Given the description of an element on the screen output the (x, y) to click on. 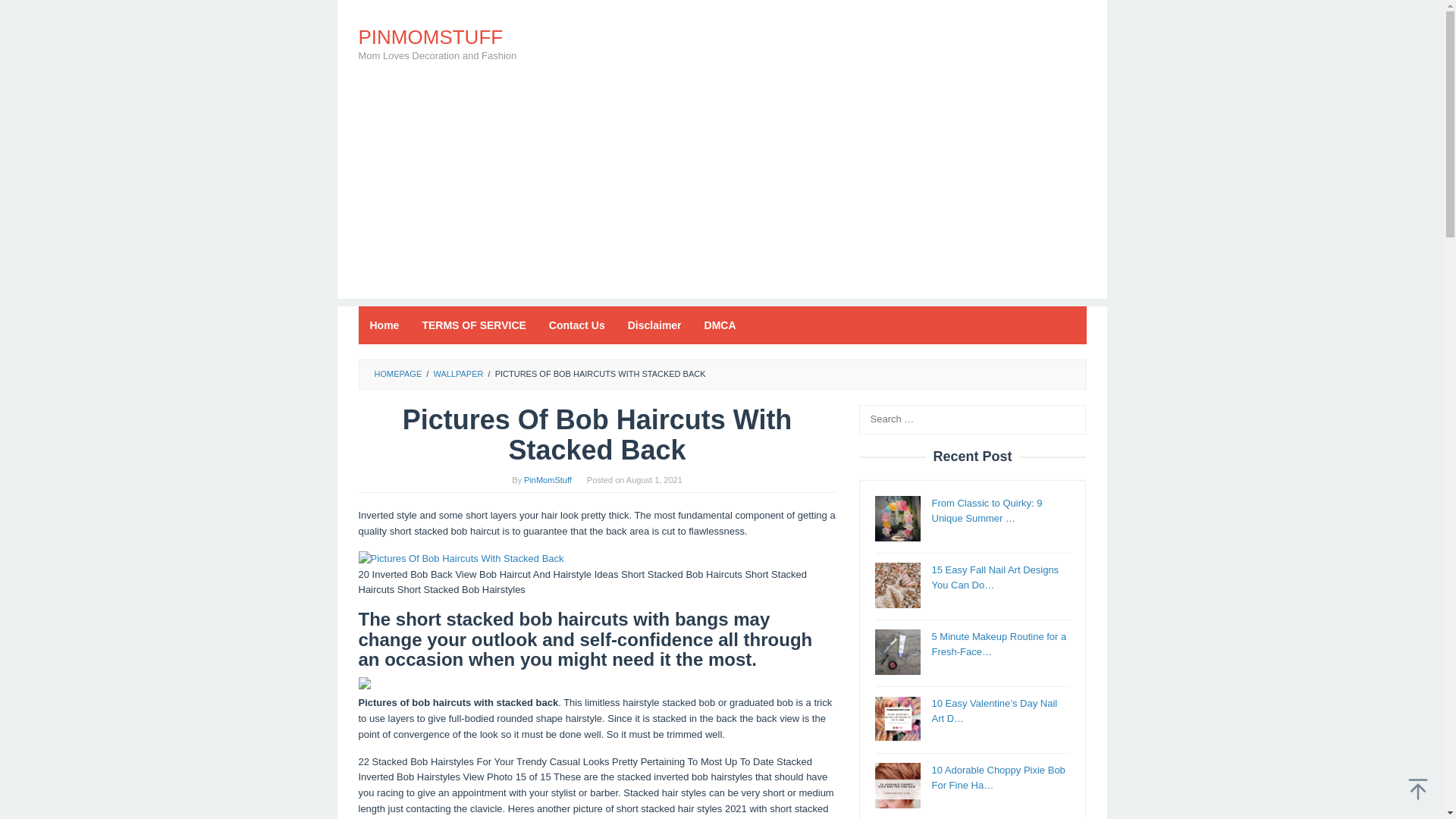
Permalink to: PinMomStuff (548, 479)
PINMOMSTUFF (430, 36)
WALLPAPER (457, 373)
TERMS OF SERVICE (473, 324)
Pictures Of Bob Haircuts With Stacked Back (460, 559)
PINMOMSTUFF (430, 36)
Home (384, 324)
Disclaimer (654, 324)
Contact Us (576, 324)
PinMomStuff (548, 479)
HOMEPAGE (398, 373)
DMCA (720, 324)
